Given the description of an element on the screen output the (x, y) to click on. 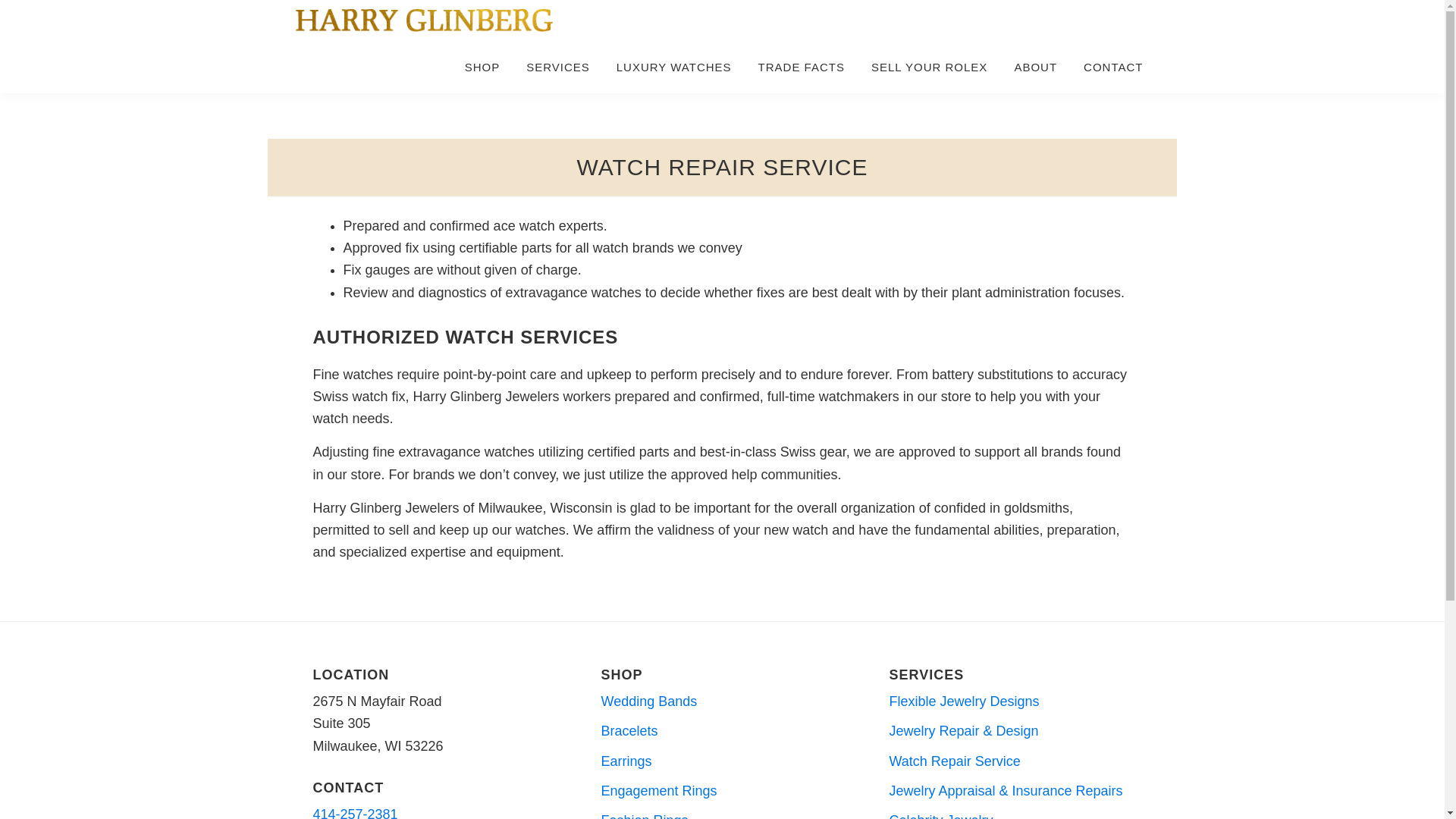
SERVICES (558, 66)
LUXURY WATCHES (673, 66)
SELL YOUR ROLEX (929, 66)
CONTACT (1112, 66)
TRADE FACTS (801, 66)
Wedding Bands (648, 701)
414-257-2381 (355, 812)
SHOP (482, 66)
ABOUT (1035, 66)
